Given the description of an element on the screen output the (x, y) to click on. 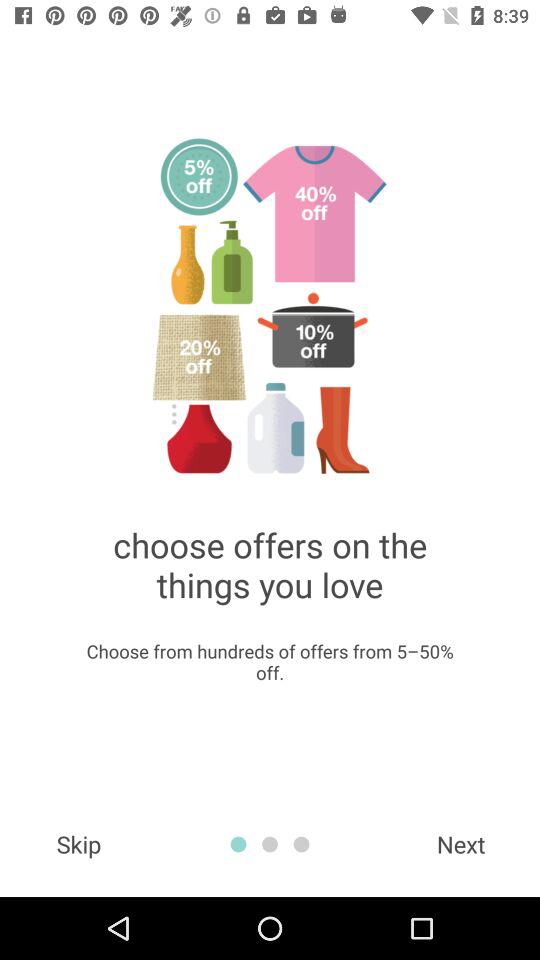
turn on the item below the choose from hundreds (461, 844)
